Given the description of an element on the screen output the (x, y) to click on. 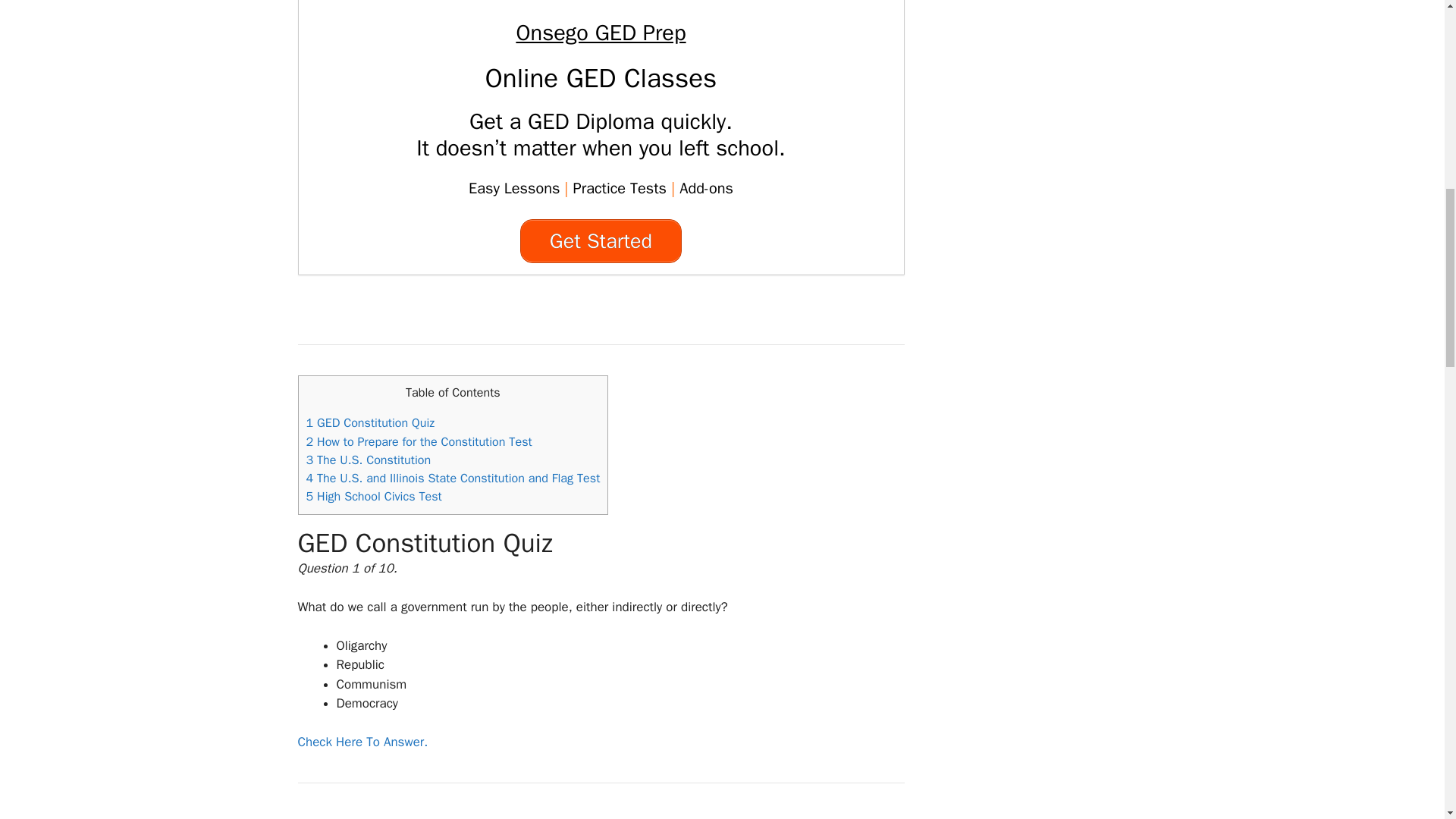
1 GED Constitution Quiz (370, 422)
5 High School Civics Test (373, 496)
4 The U.S. and Illinois State Constitution and Flag Test (452, 478)
Get Started (600, 240)
Check Here To Answer. (362, 741)
2 How to Prepare for the Constitution Test (418, 441)
3 The U.S. Constitution (367, 459)
